Given the description of an element on the screen output the (x, y) to click on. 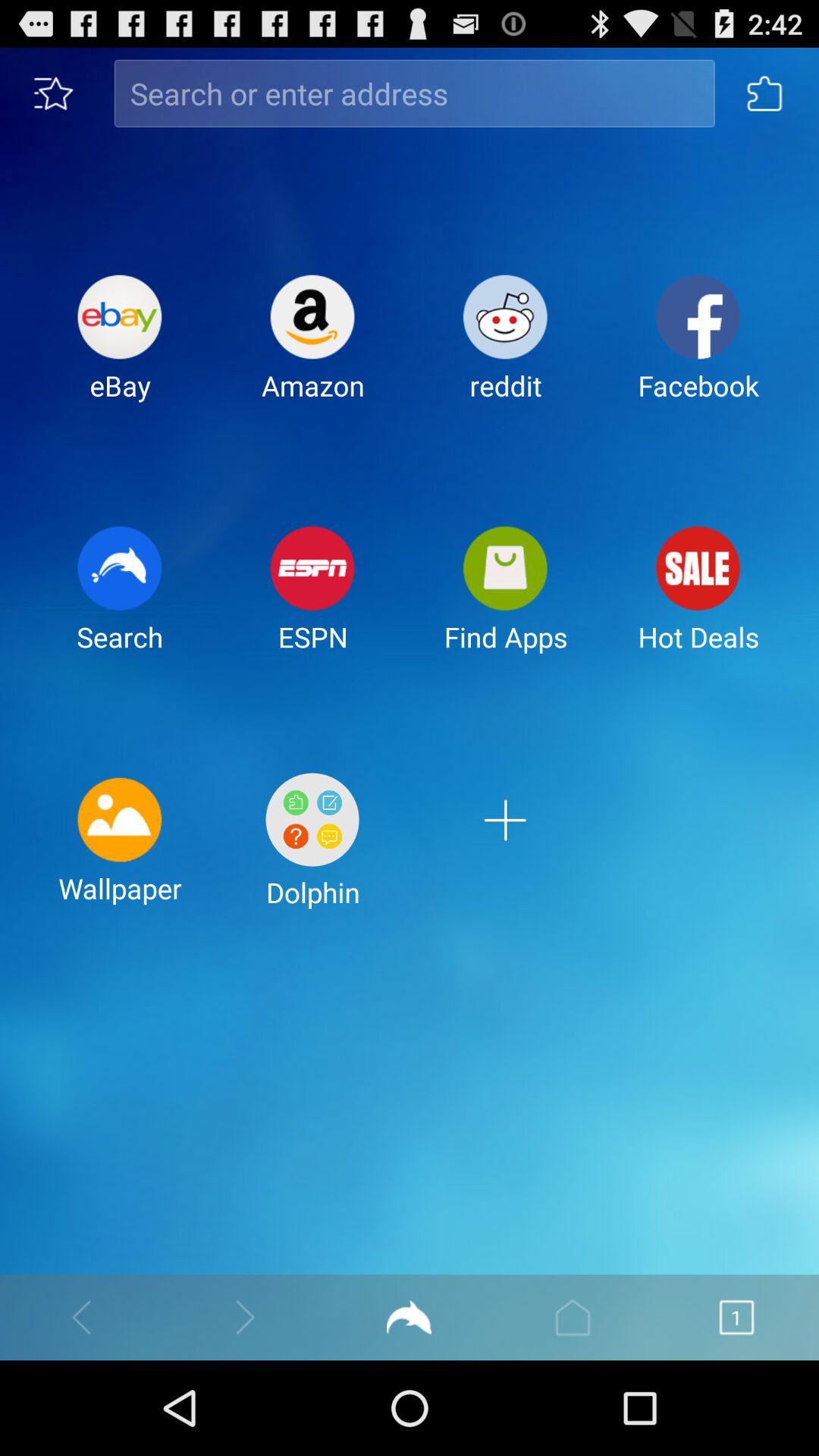
turn off icon next to reddit item (698, 349)
